Given the description of an element on the screen output the (x, y) to click on. 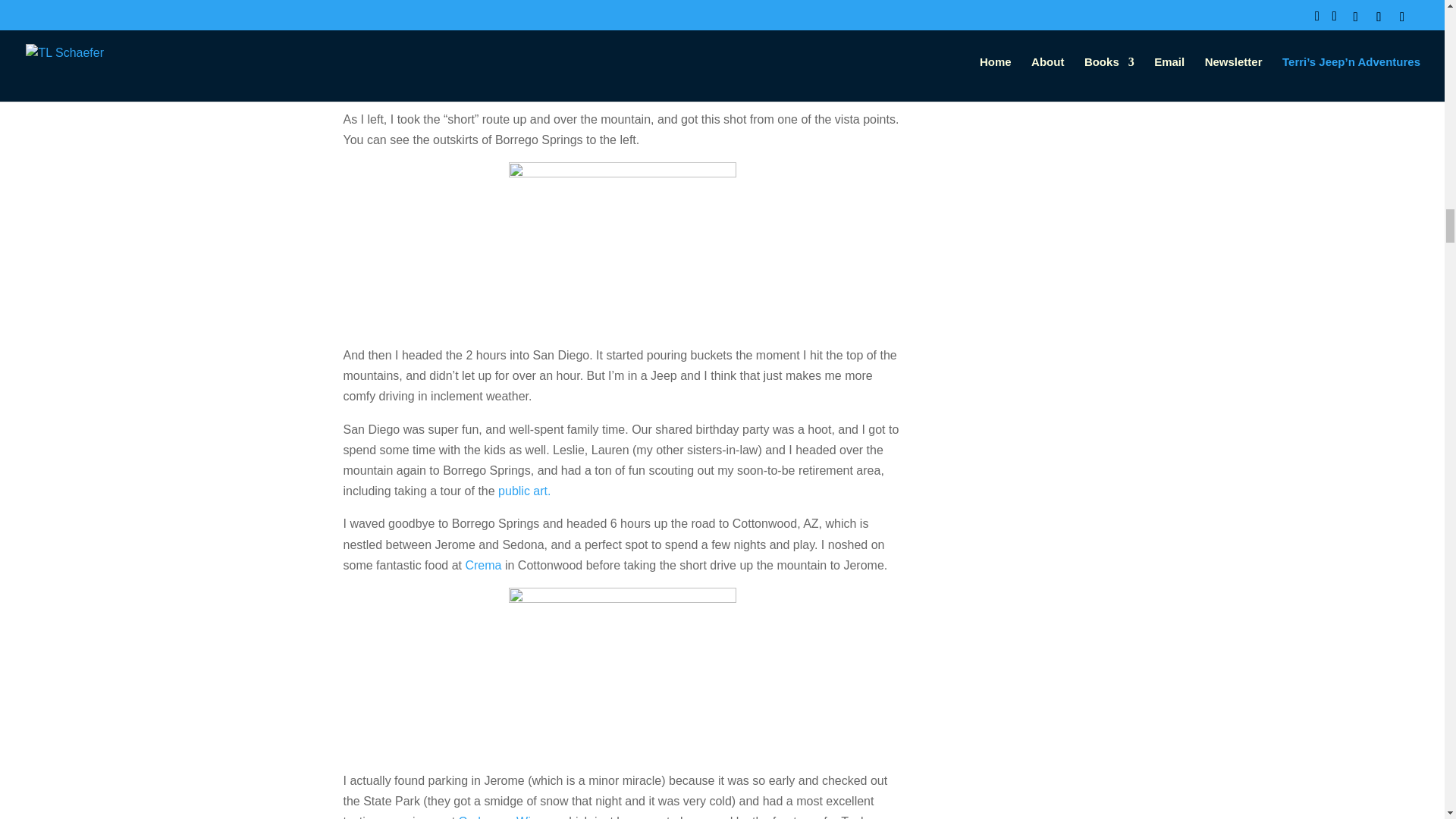
public art. (523, 490)
Caduceus Winery (505, 816)
Crema (482, 564)
